Given the description of an element on the screen output the (x, y) to click on. 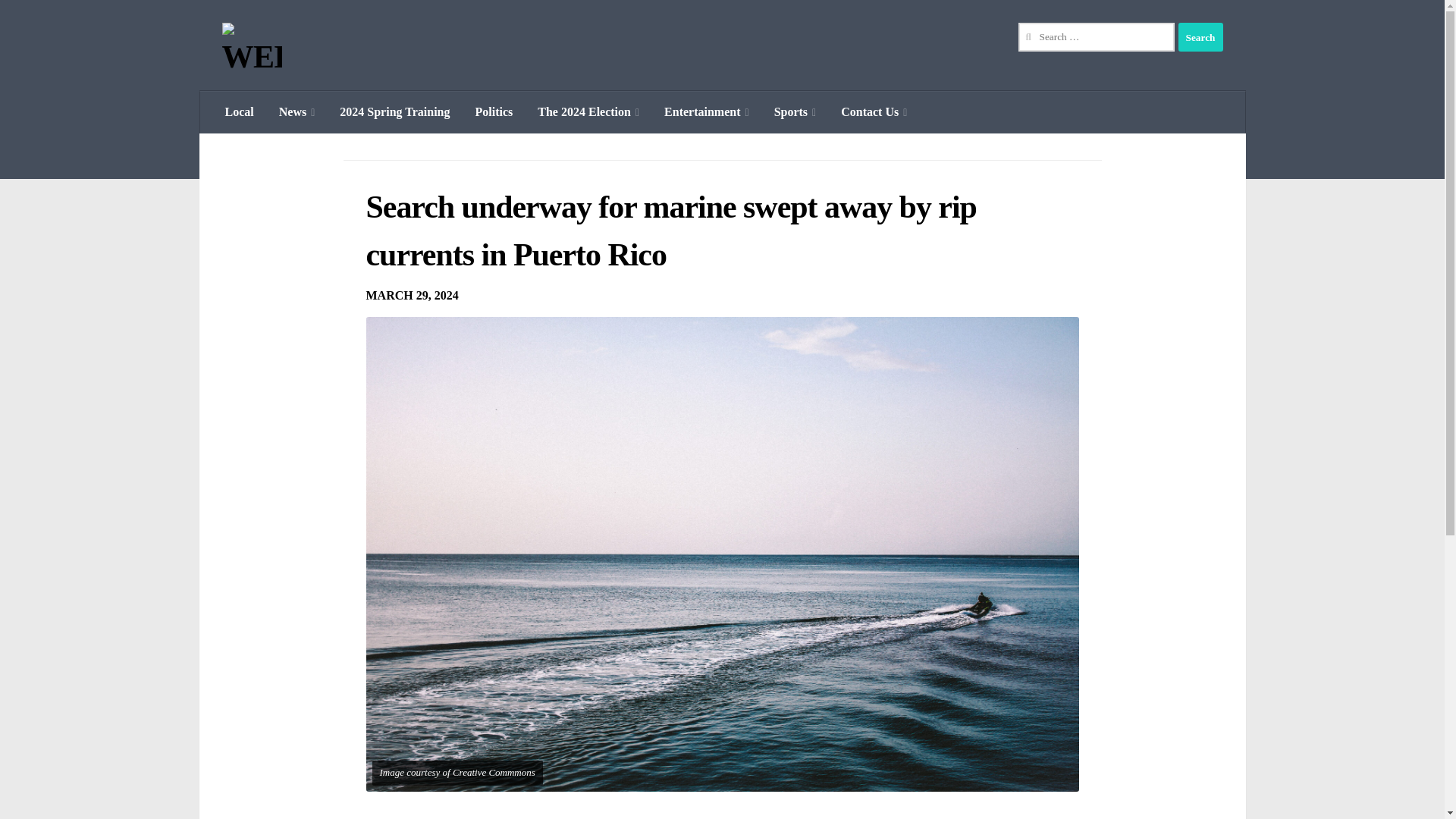
News (296, 112)
Search (1200, 36)
The 2024 Election (588, 112)
Politics (494, 112)
Local (238, 112)
2024 Spring Training (394, 112)
Search (1200, 36)
Search (1200, 36)
Skip to content (59, 20)
